Given the description of an element on the screen output the (x, y) to click on. 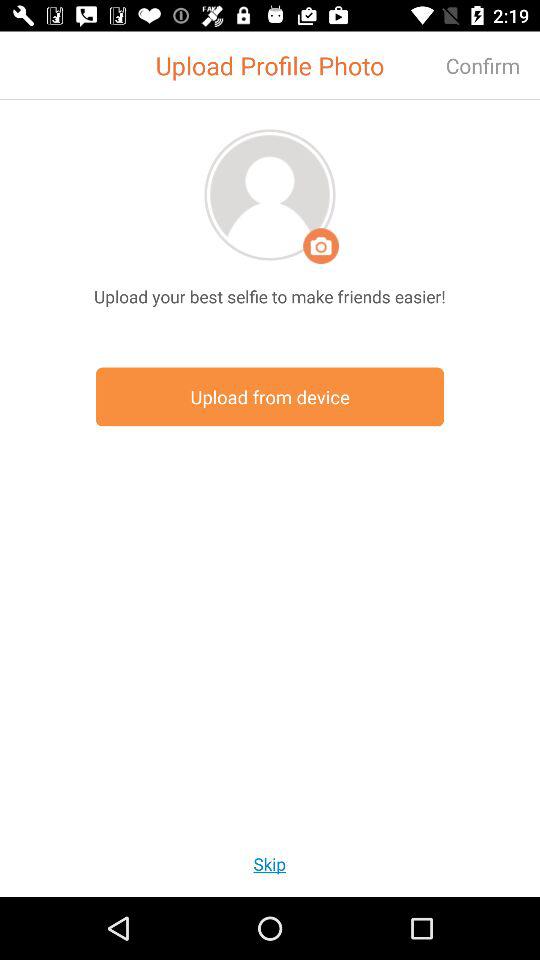
profile (269, 194)
